Given the description of an element on the screen output the (x, y) to click on. 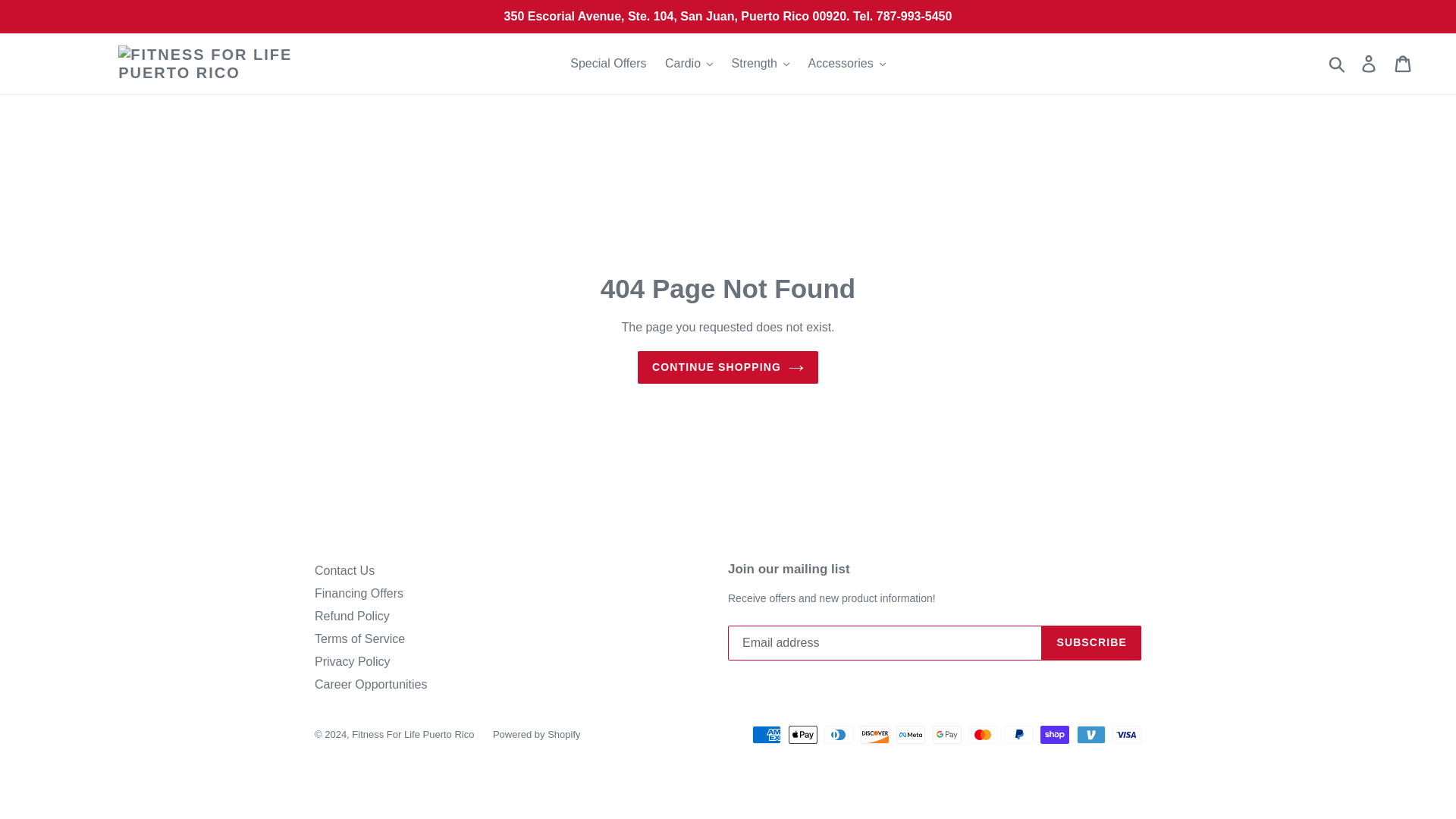
Special Offers (607, 63)
